Given the description of an element on the screen output the (x, y) to click on. 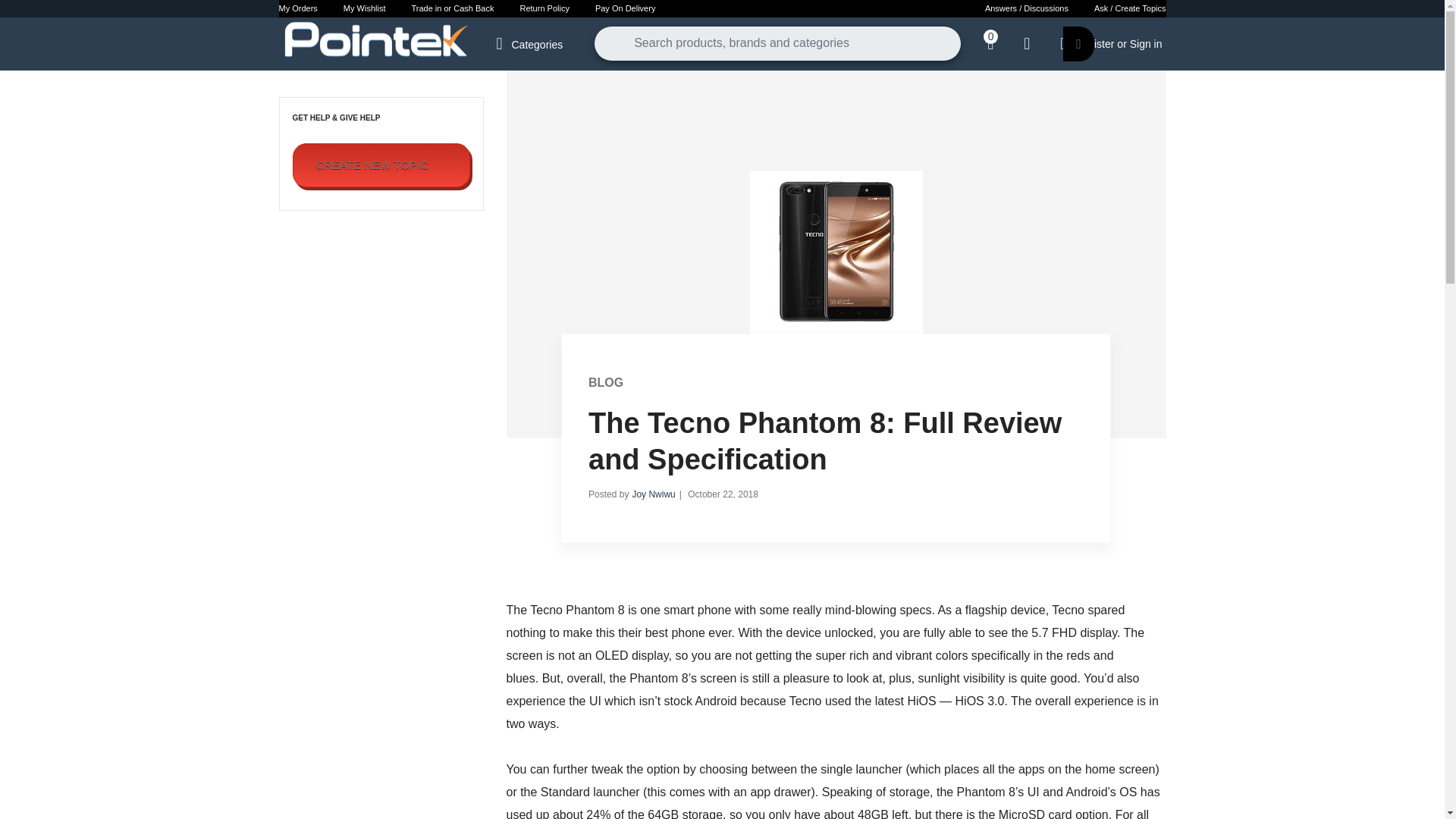
Categories (534, 42)
My Wishlist (364, 8)
Pay On Delivery (625, 8)
Trade in or Cash Back (451, 8)
My Orders (297, 8)
Return Policy (543, 8)
